Given the description of an element on the screen output the (x, y) to click on. 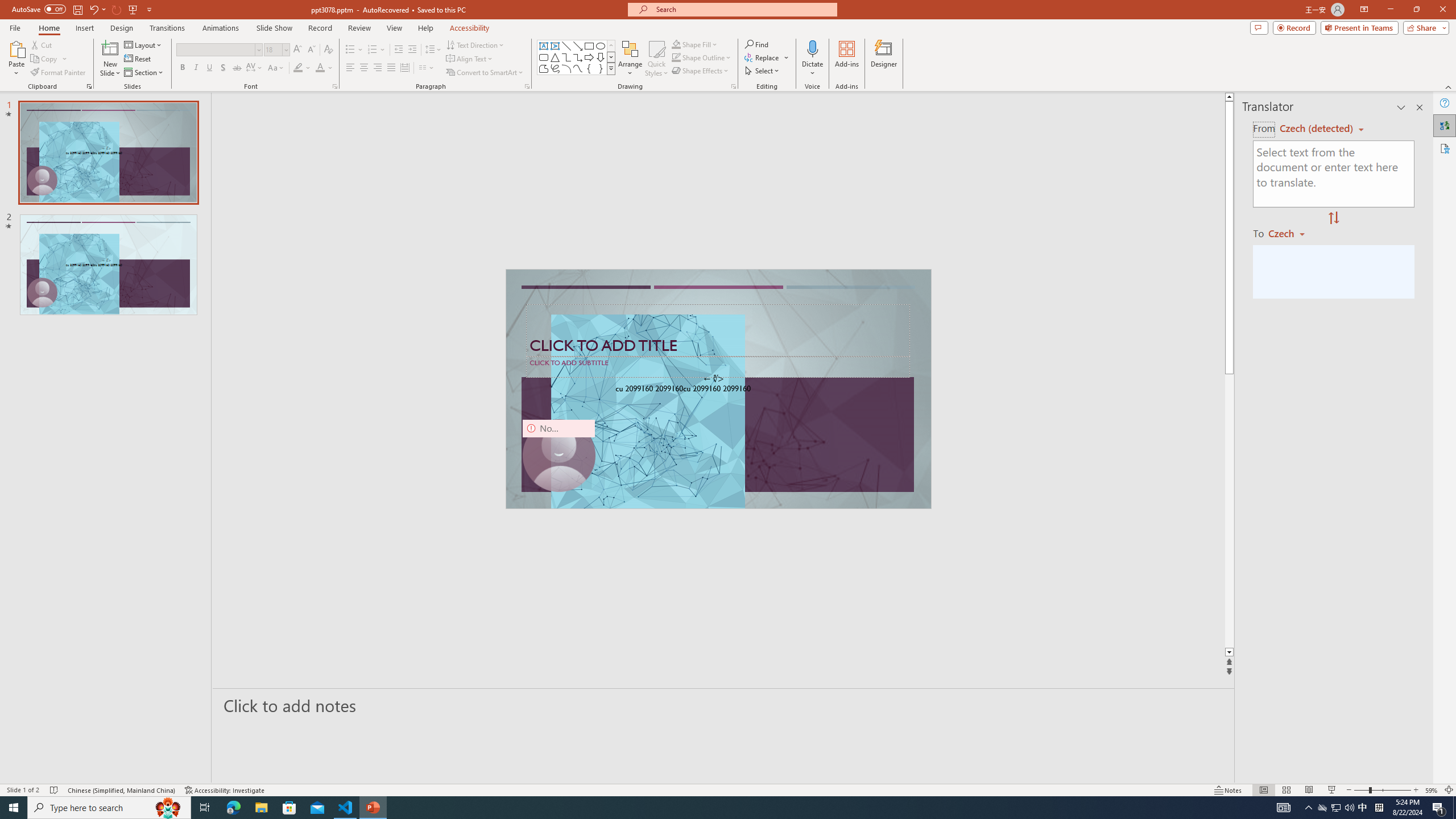
Shape Effects (700, 69)
Shape Outline (701, 56)
